Given the description of an element on the screen output the (x, y) to click on. 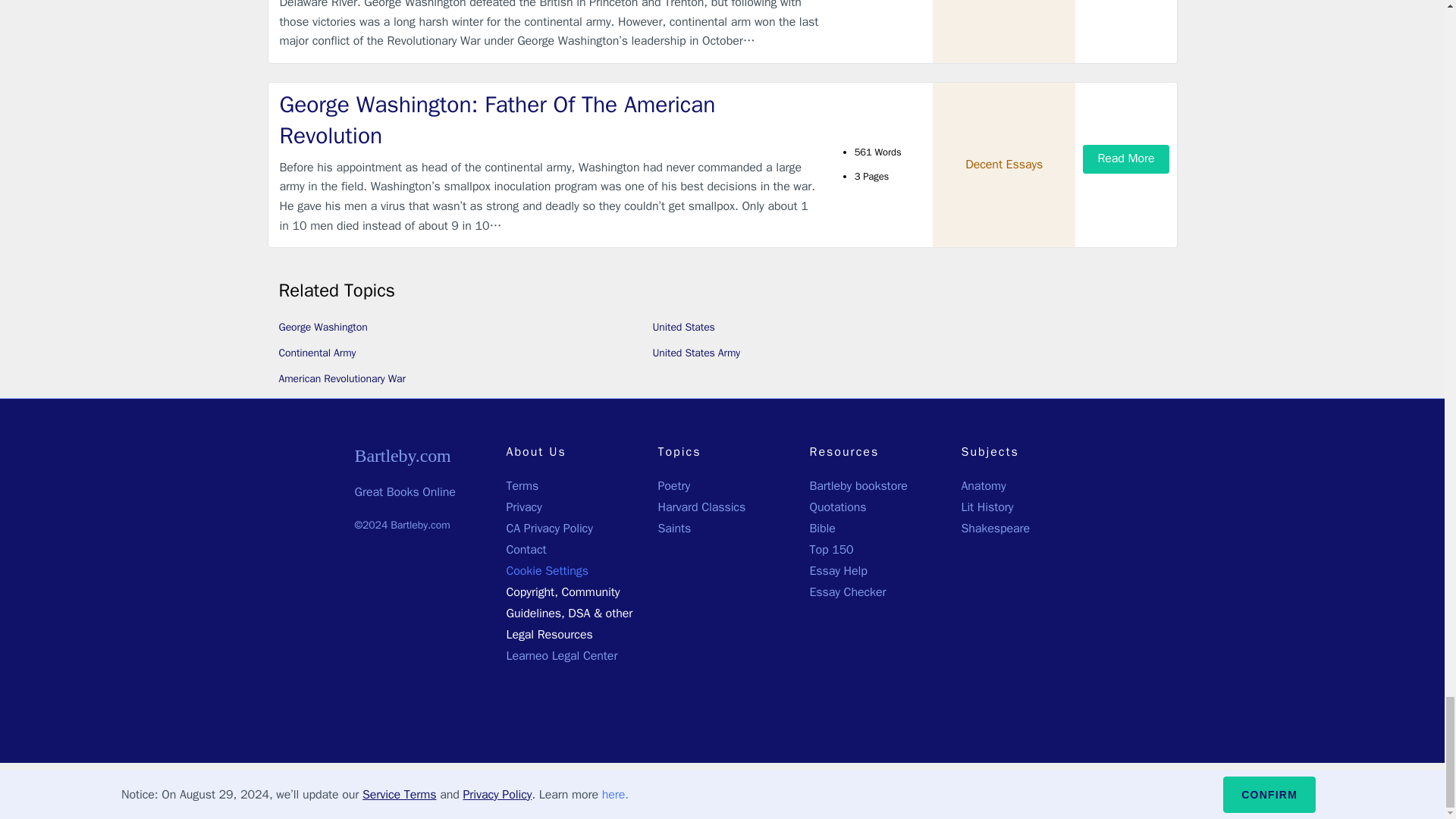
United States Army (695, 352)
Continental Army (317, 352)
United States (683, 327)
American Revolutionary War (342, 378)
George Washington (323, 327)
